Given the description of an element on the screen output the (x, y) to click on. 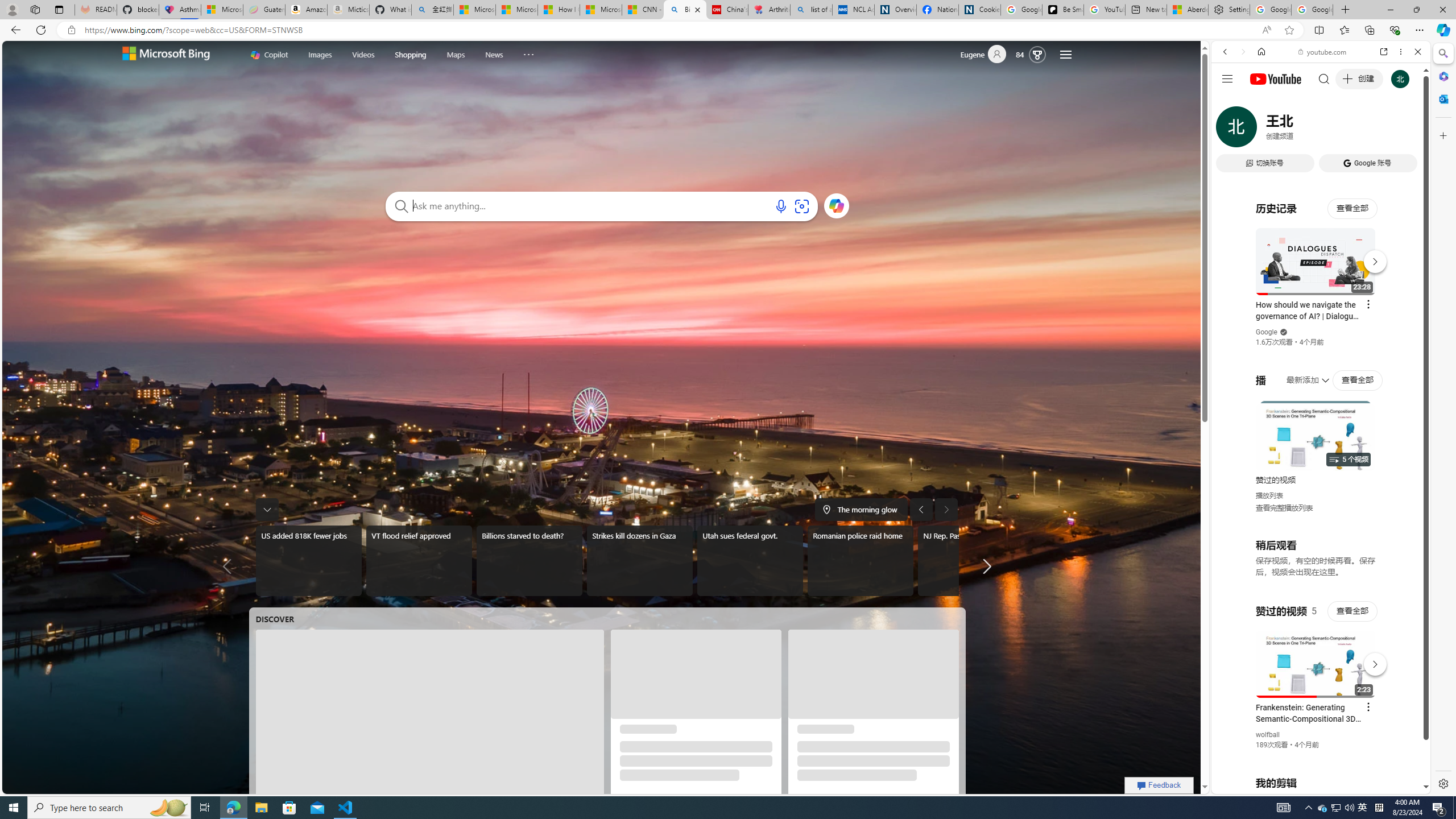
More news (983, 566)
More (528, 51)
0 characters out of 2000 (591, 205)
